Given the description of an element on the screen output the (x, y) to click on. 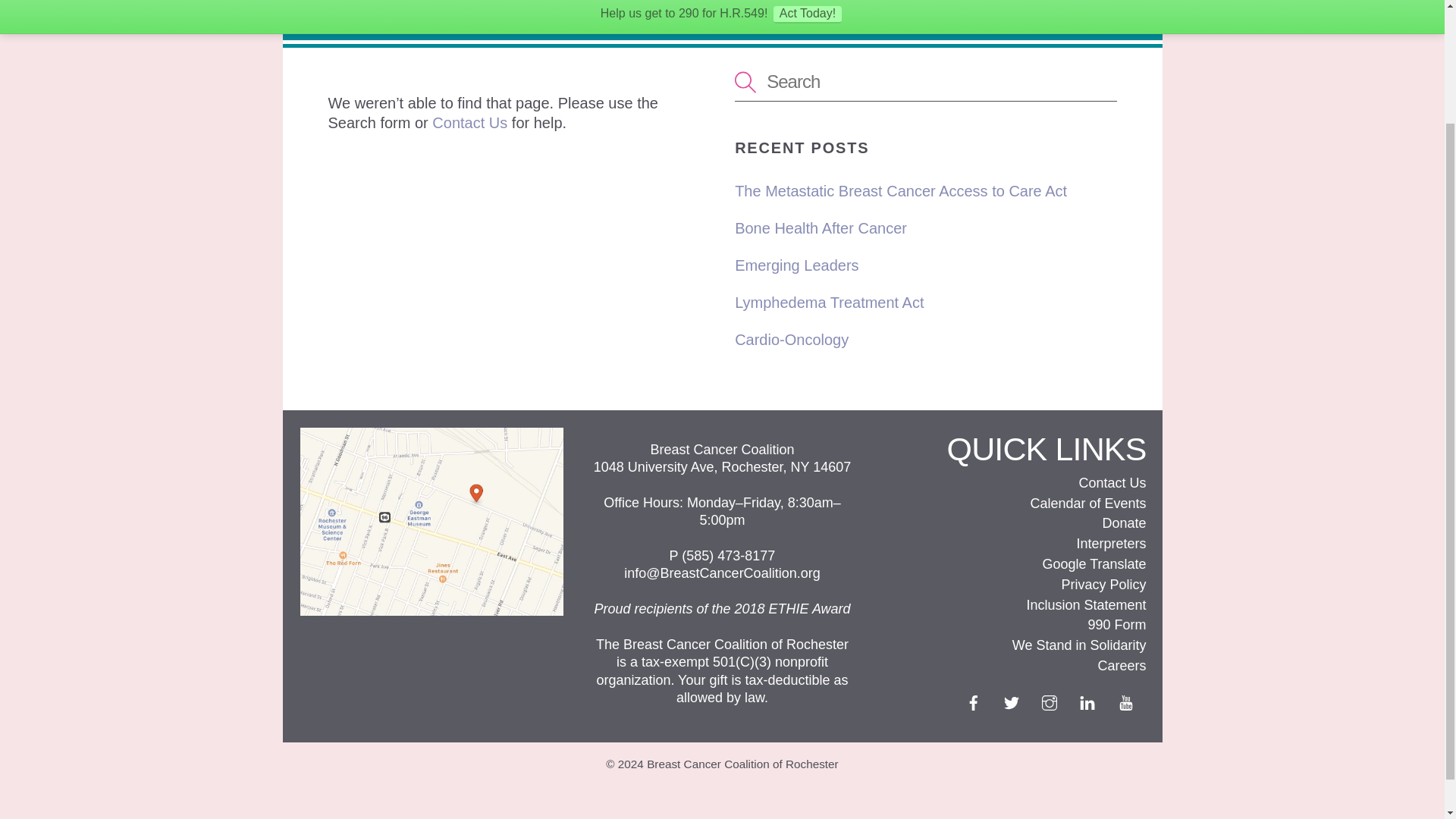
Emerging Leaders (797, 265)
Search (925, 81)
Donate (1123, 522)
Interpreters (1110, 543)
Contact Us (1111, 482)
Cardio-Oncology (791, 339)
Calendar of Events (1087, 503)
Bone Health After Cancer (821, 228)
Proud recipients of the 2018 ETHIE Award (722, 608)
The Metastatic Breast Cancer Access to Care Act (901, 190)
